Given the description of an element on the screen output the (x, y) to click on. 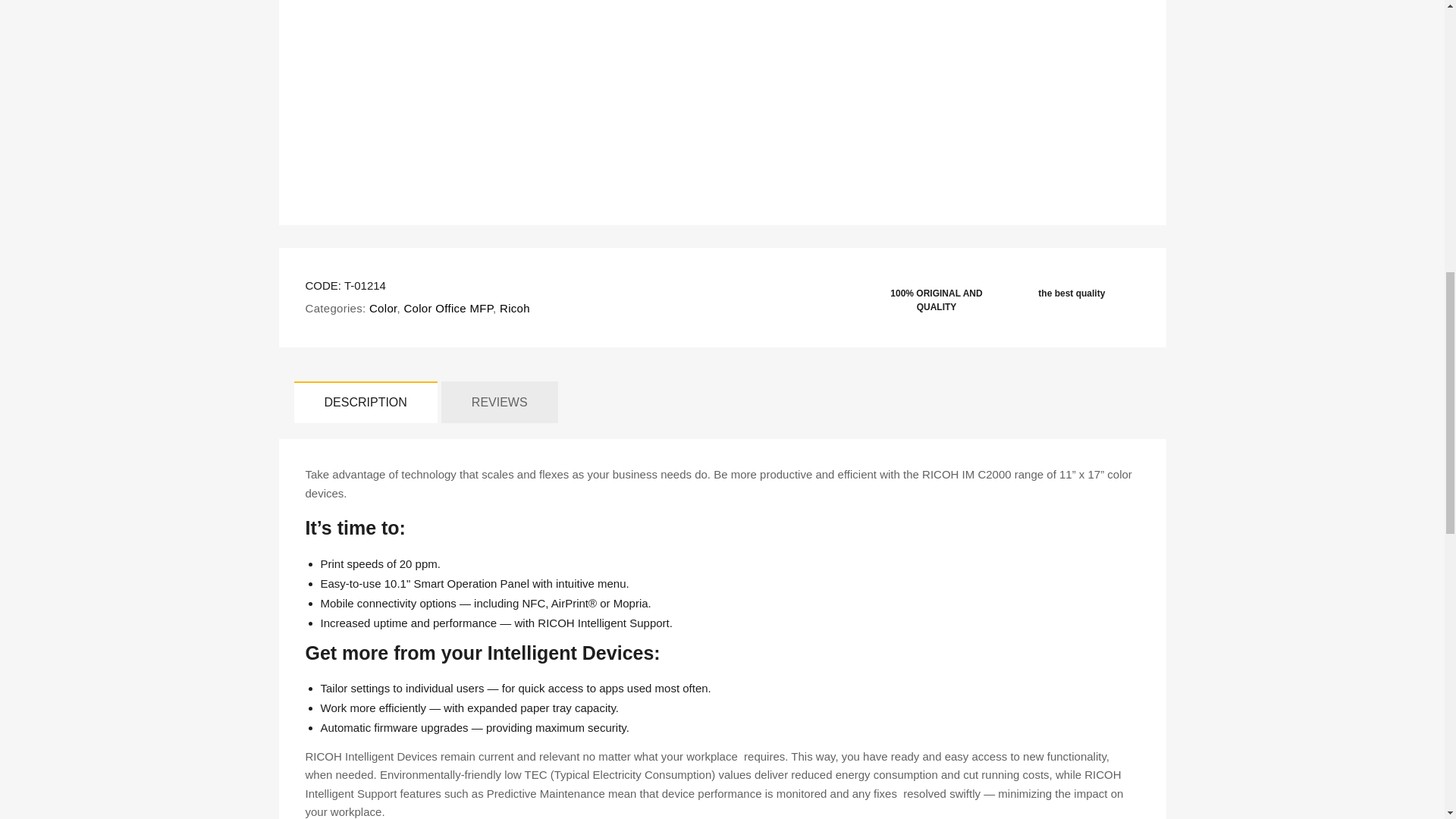
Color (381, 308)
Ricoh (512, 308)
Color Office MFP (446, 308)
